Given the description of an element on the screen output the (x, y) to click on. 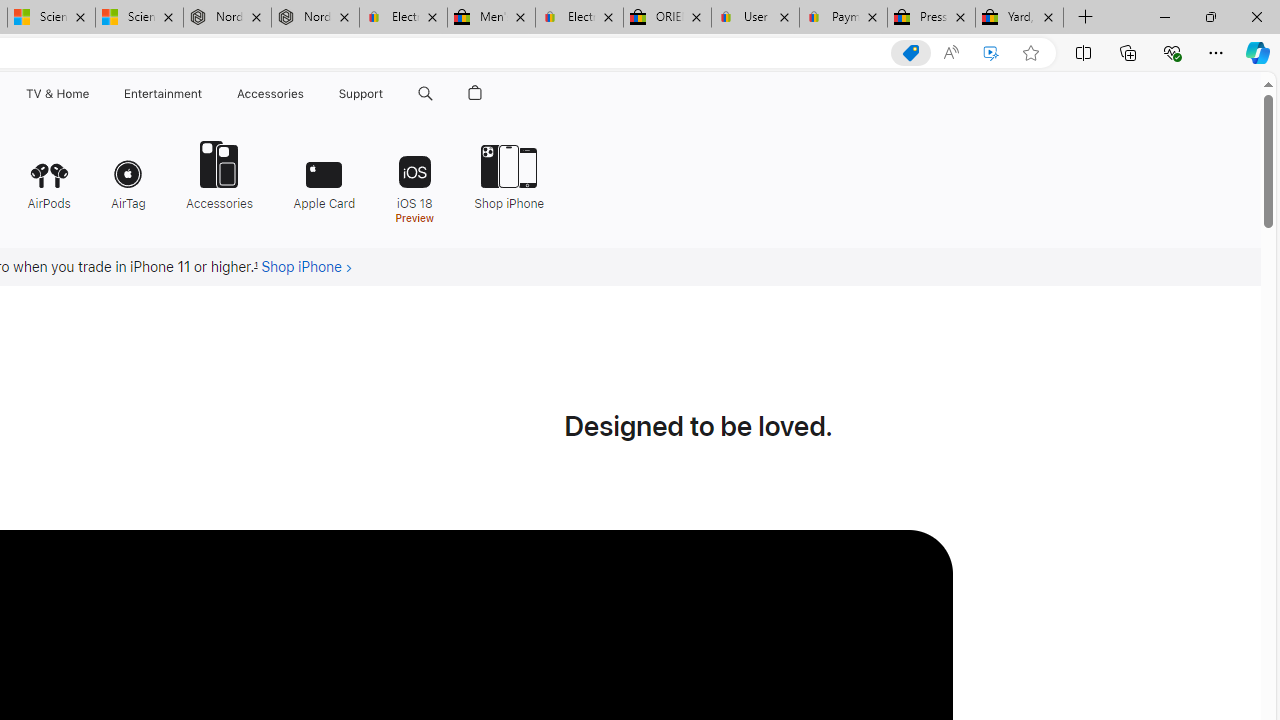
TV and Home (56, 93)
Support menu (387, 93)
Class: globalnav-submenu-trigger-item (387, 93)
Class: globalnav-item globalnav-search shift-0-1 (425, 93)
Footnote 1 (255, 267)
AirPods (48, 173)
Entertainment menu (205, 93)
TV and Home menu (92, 93)
